Given the description of an element on the screen output the (x, y) to click on. 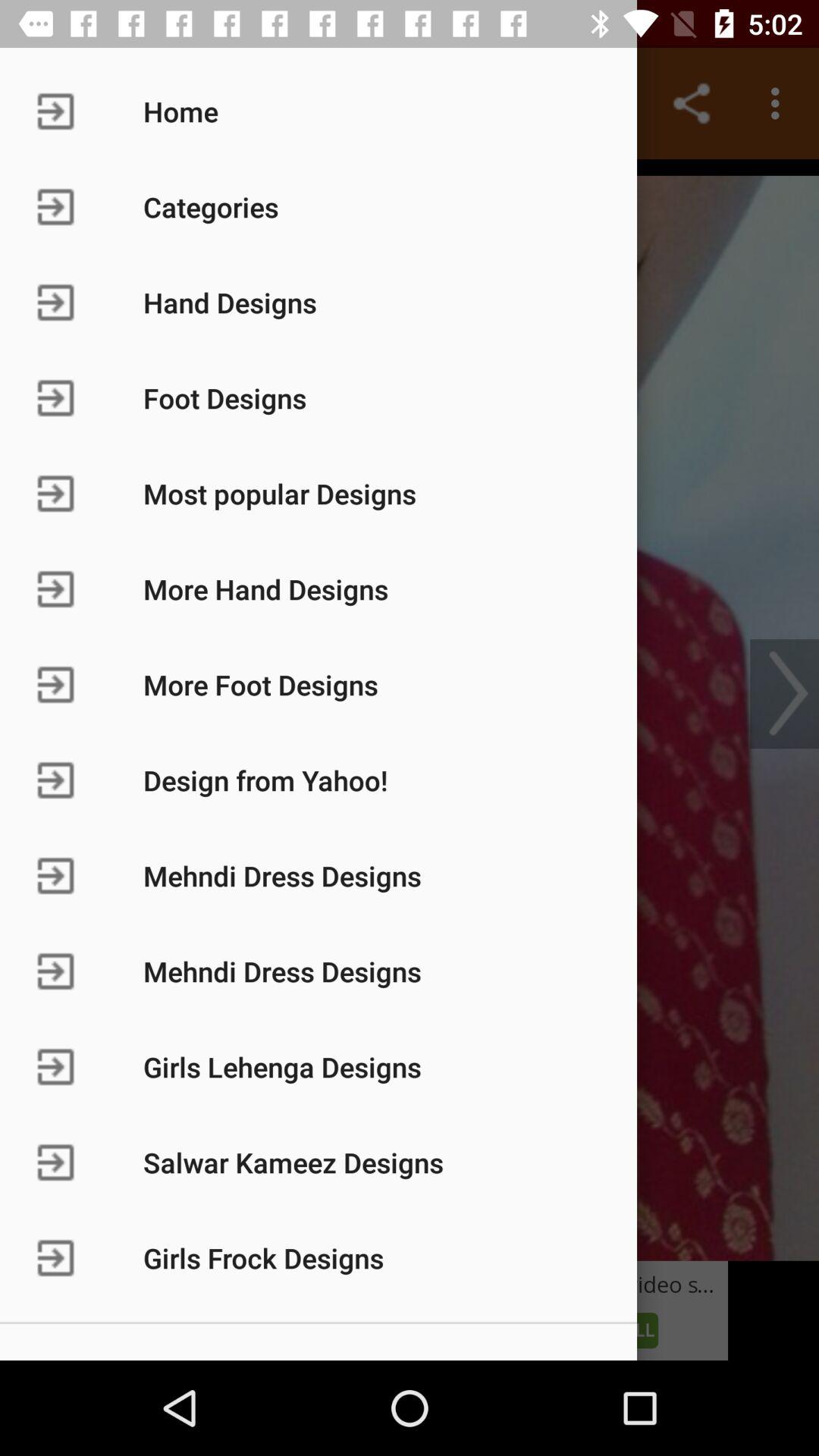
explore other categories (409, 709)
